Given the description of an element on the screen output the (x, y) to click on. 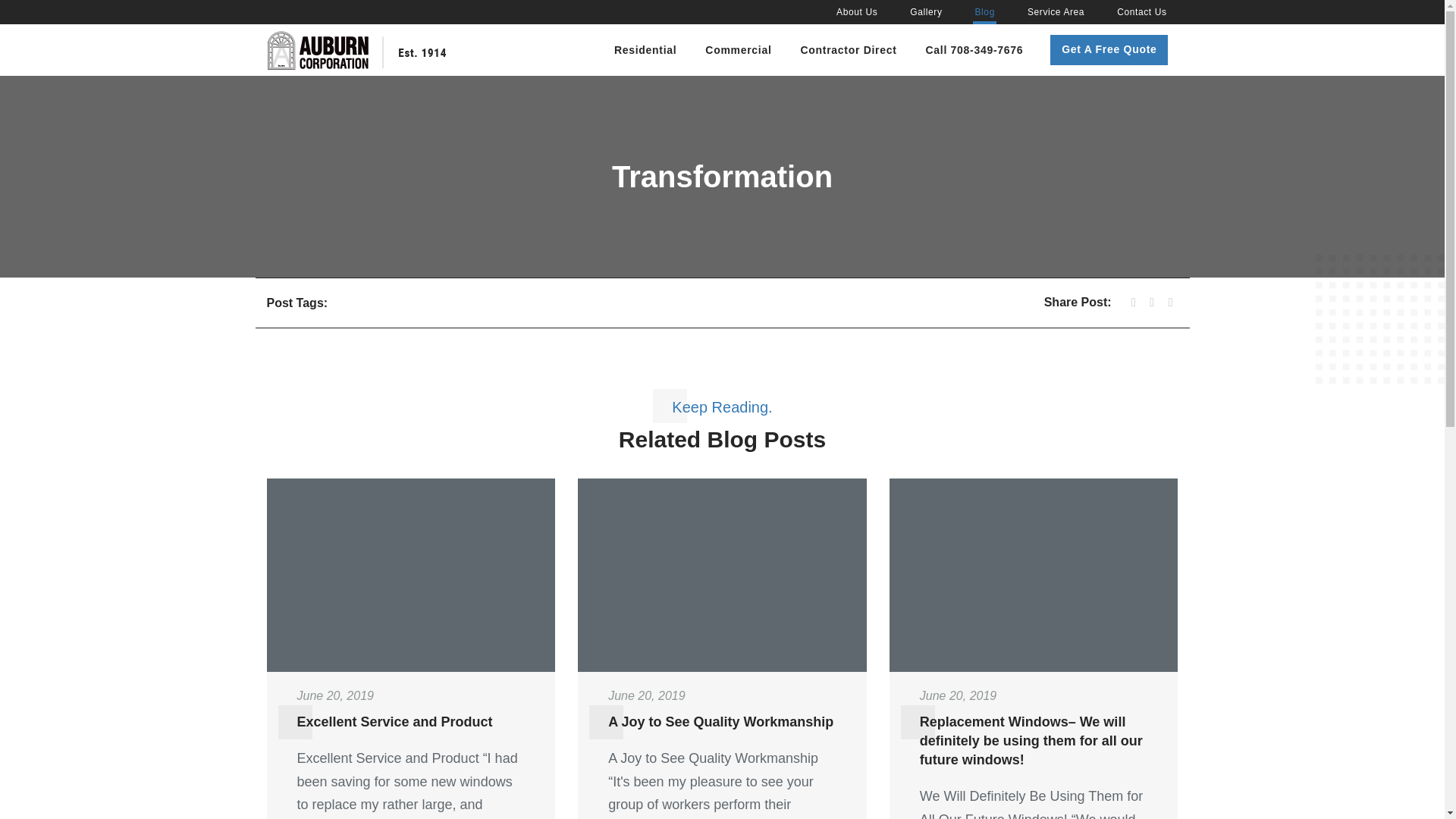
Residential (645, 55)
Contact Us (1141, 12)
Gallery (925, 12)
About Us (856, 12)
Service Area (1056, 12)
Auburn Corp (356, 48)
Blog (983, 12)
